Given the description of an element on the screen output the (x, y) to click on. 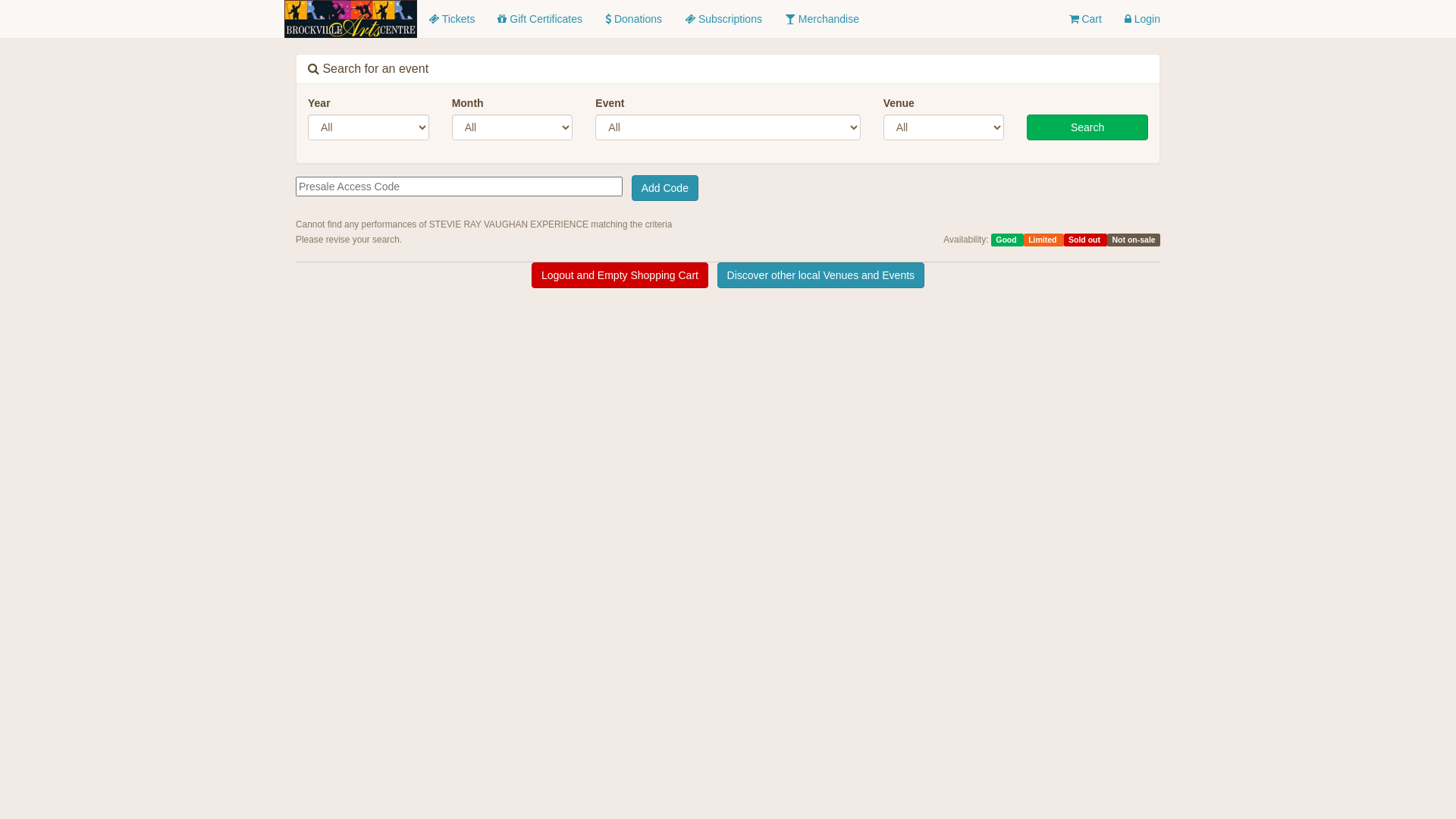
Donations Element type: text (633, 18)
Cart Element type: text (1084, 18)
Merchandise Element type: text (821, 18)
Subscriptions Element type: text (723, 18)
Discover other local Venues and Events Element type: text (820, 275)
Search Element type: text (1087, 127)
Login Element type: text (1142, 18)
Logout and Empty Shopping Cart Element type: text (619, 275)
Add Code Element type: text (664, 187)
Tickets Element type: text (451, 18)
Search for an event Element type: text (367, 68)
Gift Certificates Element type: text (539, 18)
